Given the description of an element on the screen output the (x, y) to click on. 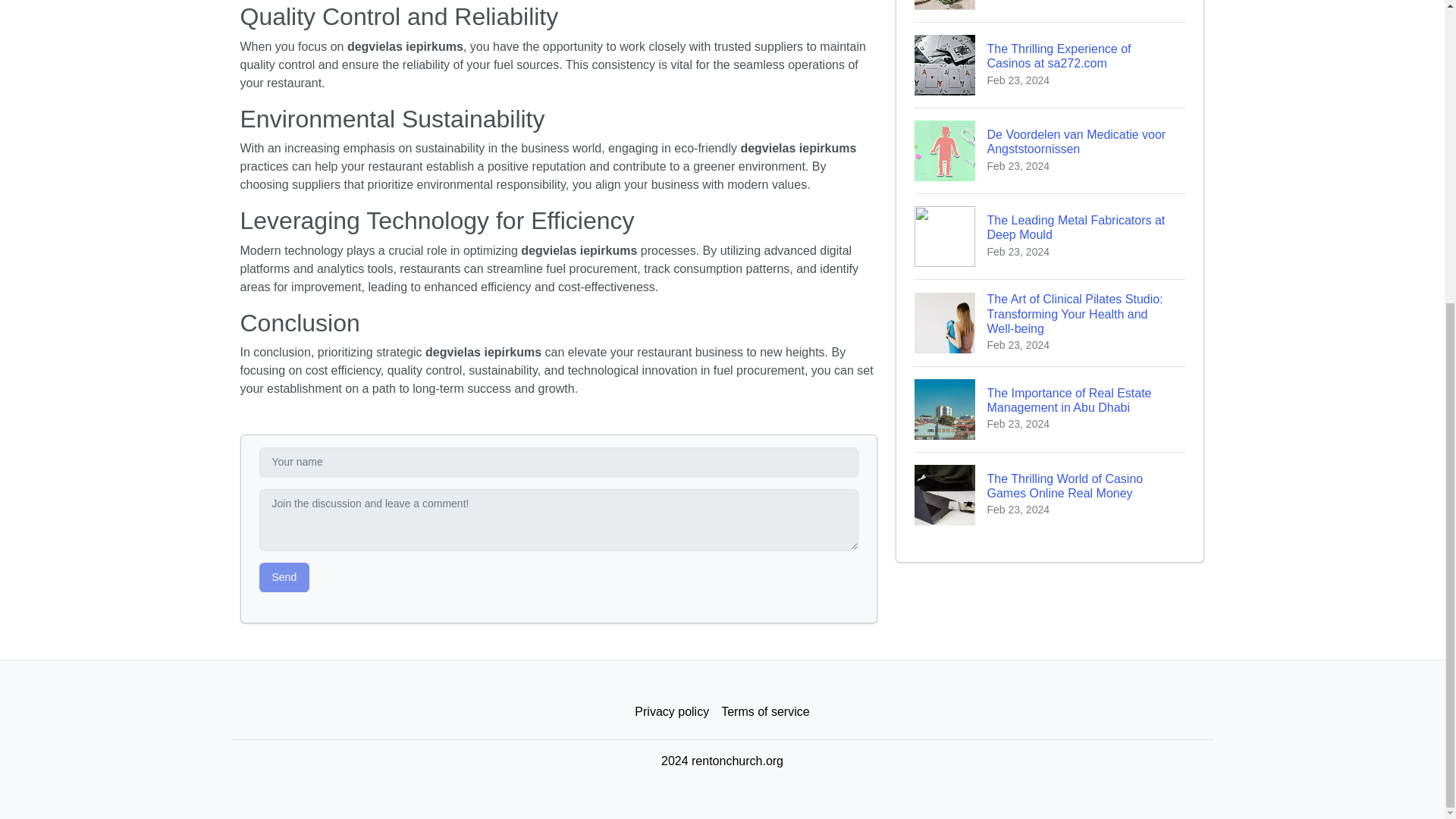
Send (284, 577)
Privacy policy (671, 711)
Send (284, 577)
Terms of service (764, 711)
